Given the description of an element on the screen output the (x, y) to click on. 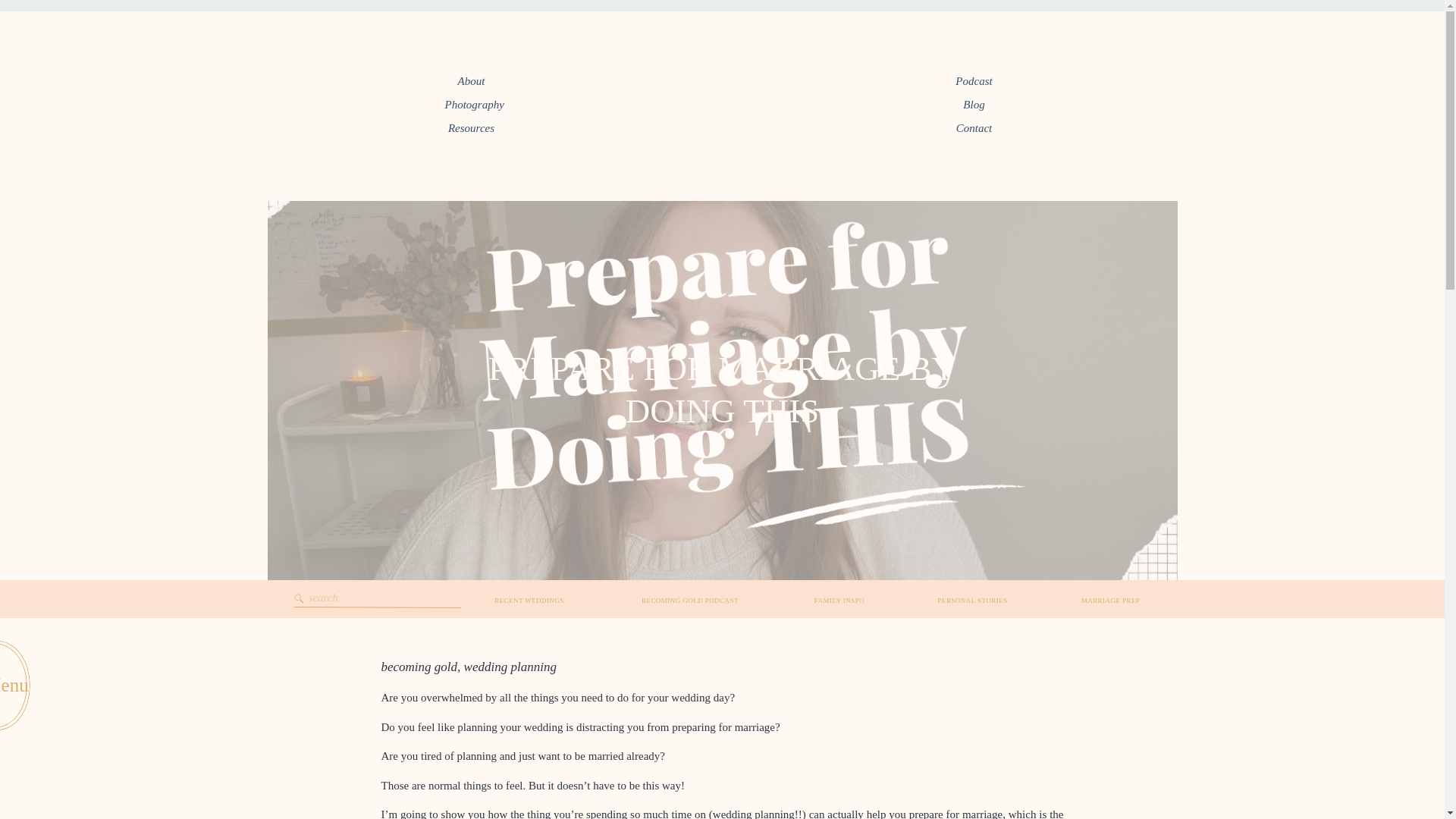
Photography (470, 106)
Resources (470, 129)
BECOMING GOLD PODCAST (689, 602)
Menu (19, 685)
becoming gold (418, 667)
RECENT WEDDINGS (528, 602)
PERSONAL STORIES (971, 602)
MARRIAGE PREP (1109, 602)
About (470, 82)
wedding planning (510, 667)
Podcast (974, 82)
Contact (974, 129)
FAMILY INSPO (839, 602)
Blog (974, 106)
